Given the description of an element on the screen output the (x, y) to click on. 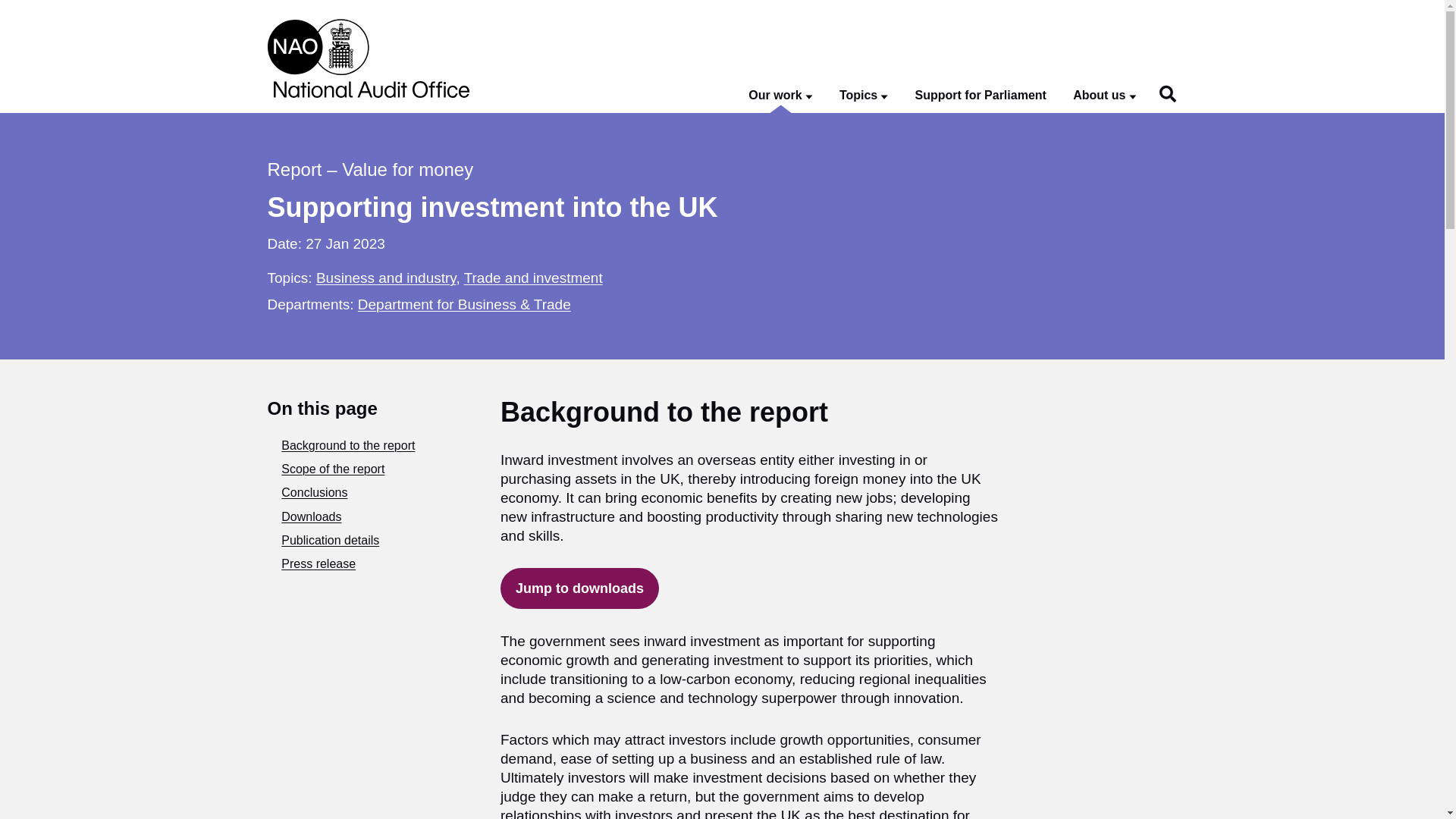
Topics (864, 95)
Support for Parliament (980, 95)
Skip to main content (11, 7)
Our work (780, 95)
About us (1104, 95)
